Given the description of an element on the screen output the (x, y) to click on. 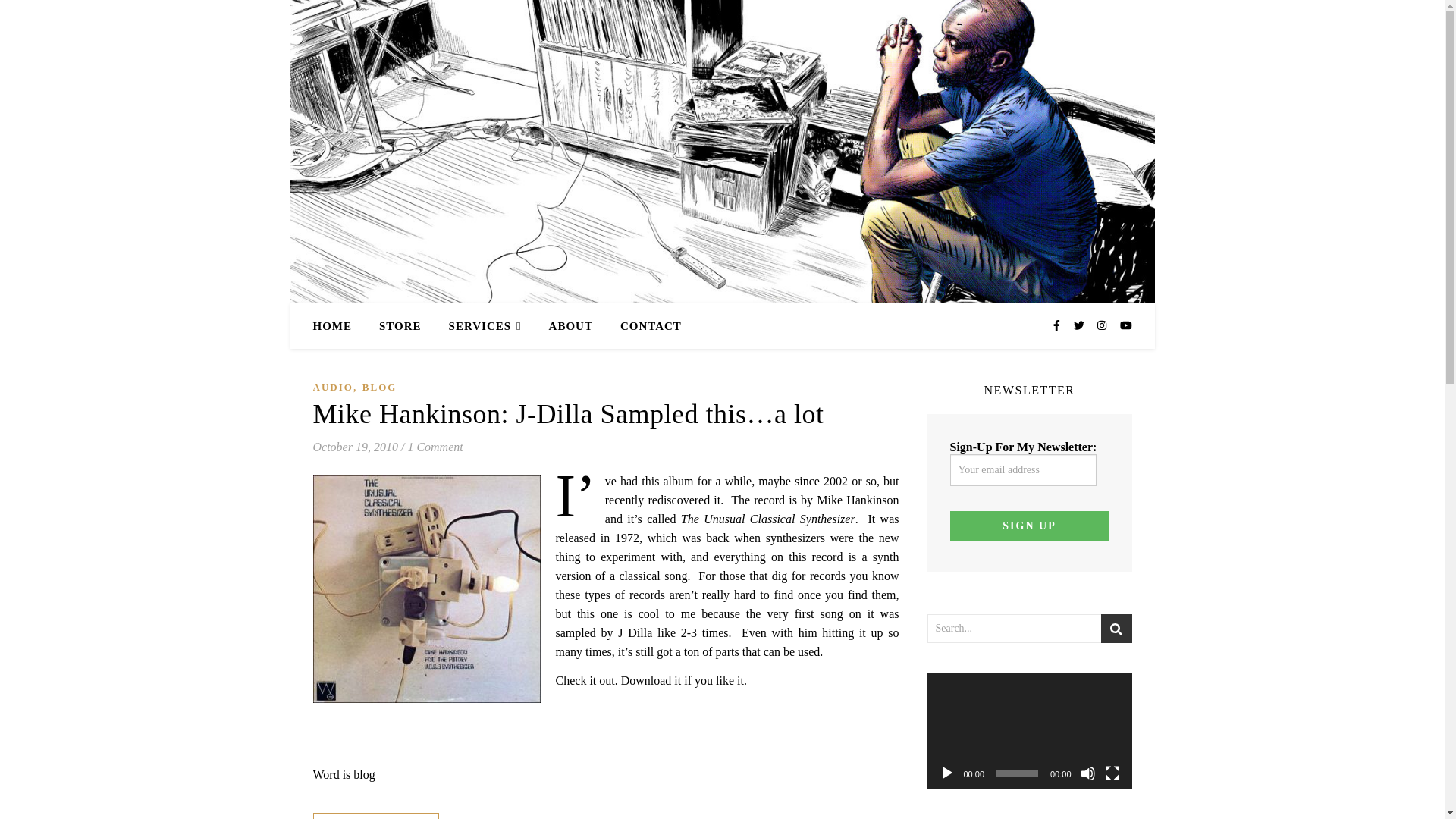
BLOG (379, 387)
st (1116, 629)
Mute (1087, 773)
STORE (399, 325)
AUDIO (332, 387)
Sign up (1028, 526)
SERVICES (485, 325)
Fullscreen (1111, 773)
Sign up (1028, 526)
ABOUT (571, 325)
READ MORE... (375, 816)
1 Comment (435, 446)
HOME (338, 325)
CONTACT (644, 325)
